Given the description of an element on the screen output the (x, y) to click on. 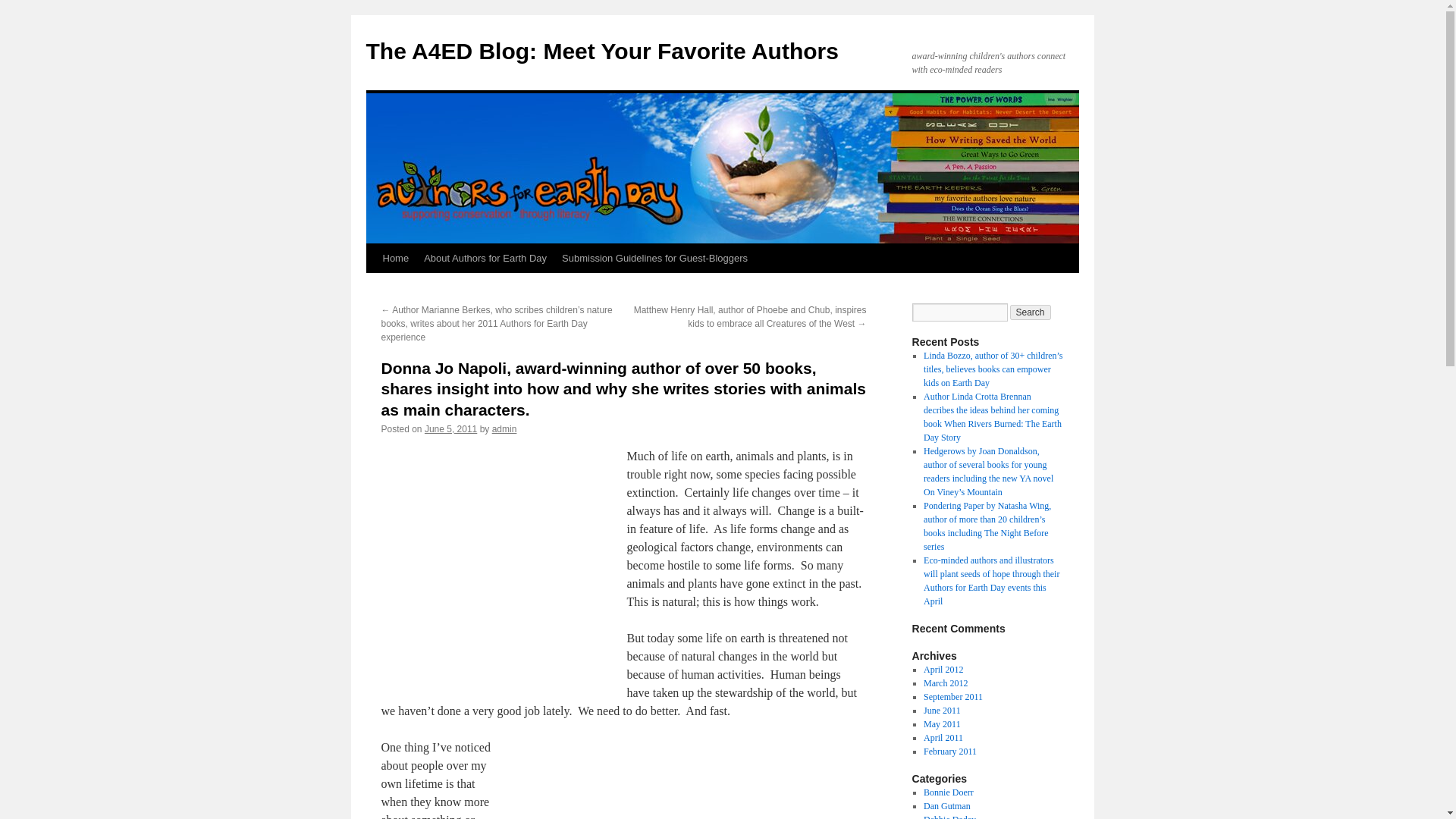
books (688, 780)
admin (504, 429)
Home (395, 258)
The A4ED Blog: Meet Your Favorite Authors (601, 50)
June 2011 (941, 710)
Bonnie Doerr (948, 792)
Search (1030, 312)
About Authors for Earth Day (485, 258)
Home (395, 258)
